Given the description of an element on the screen output the (x, y) to click on. 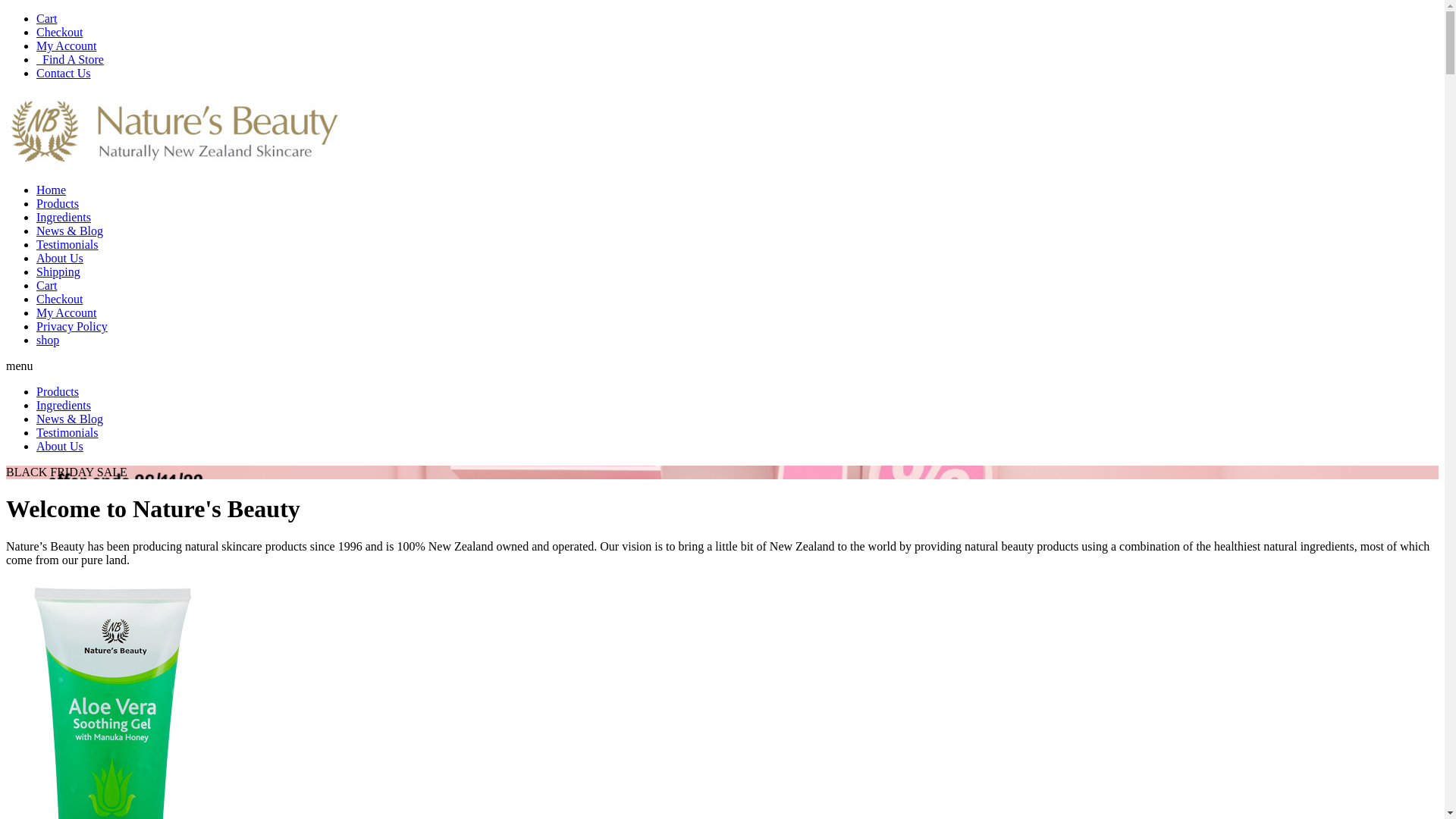
  Find A Store Element type: text (69, 59)
Testimonials Element type: text (67, 432)
Shipping Element type: text (58, 271)
Ingredients Element type: text (63, 404)
About Us Element type: text (59, 445)
Contact Us Element type: text (63, 72)
Cart Element type: text (46, 18)
Ingredients Element type: text (63, 216)
Products Element type: text (57, 203)
About Us Element type: text (59, 257)
Cart Element type: text (46, 285)
Checkout Element type: text (59, 298)
My Account Element type: text (66, 45)
shop Element type: text (47, 339)
My Account Element type: text (66, 312)
News & Blog Element type: text (69, 418)
Testimonials Element type: text (67, 244)
Checkout Element type: text (59, 31)
News & Blog Element type: text (69, 230)
Products Element type: text (57, 391)
Home Element type: text (50, 189)
Privacy Policy Element type: text (71, 326)
